Given the description of an element on the screen output the (x, y) to click on. 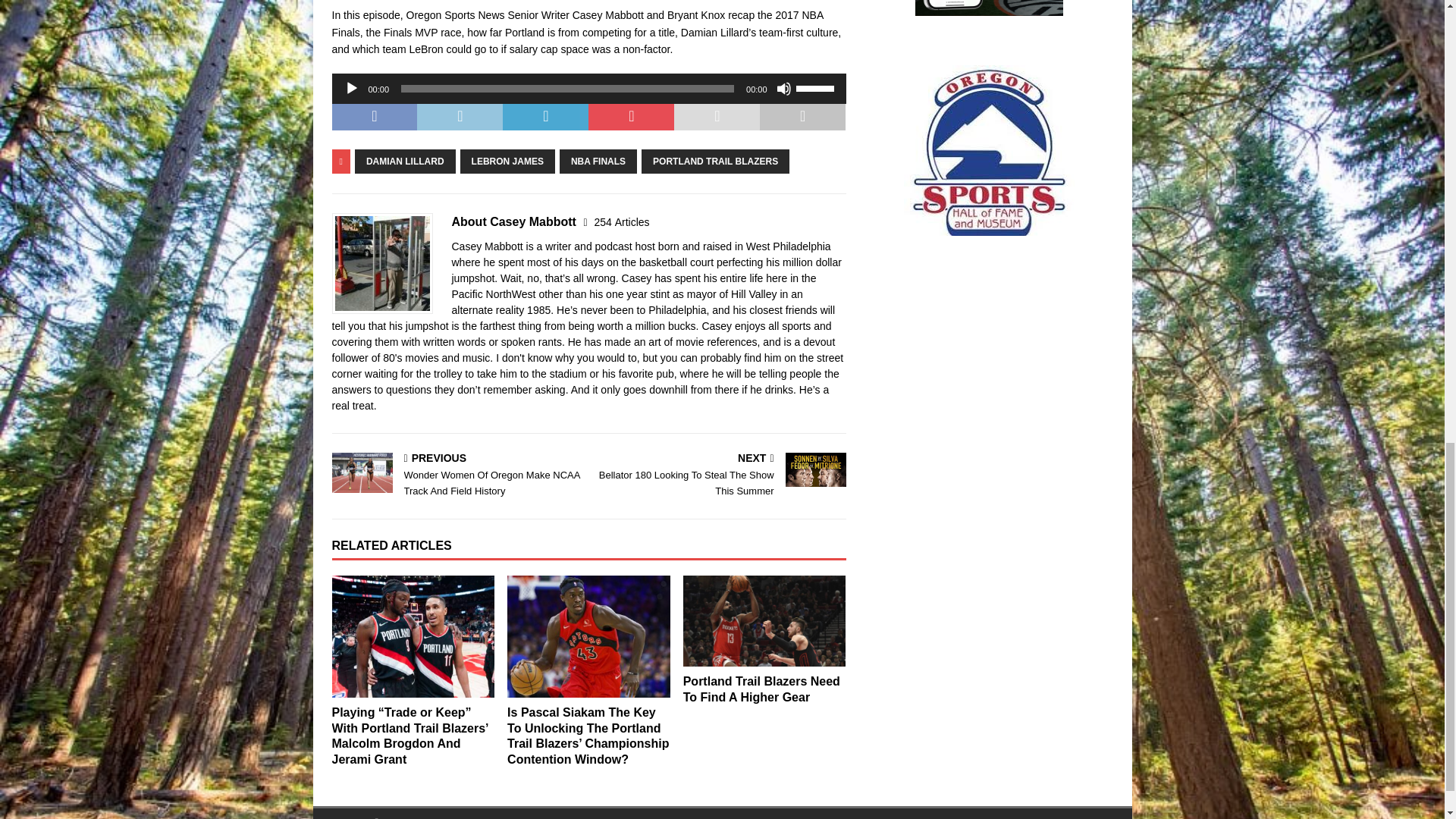
Play (351, 88)
Mute (784, 88)
